Given the description of an element on the screen output the (x, y) to click on. 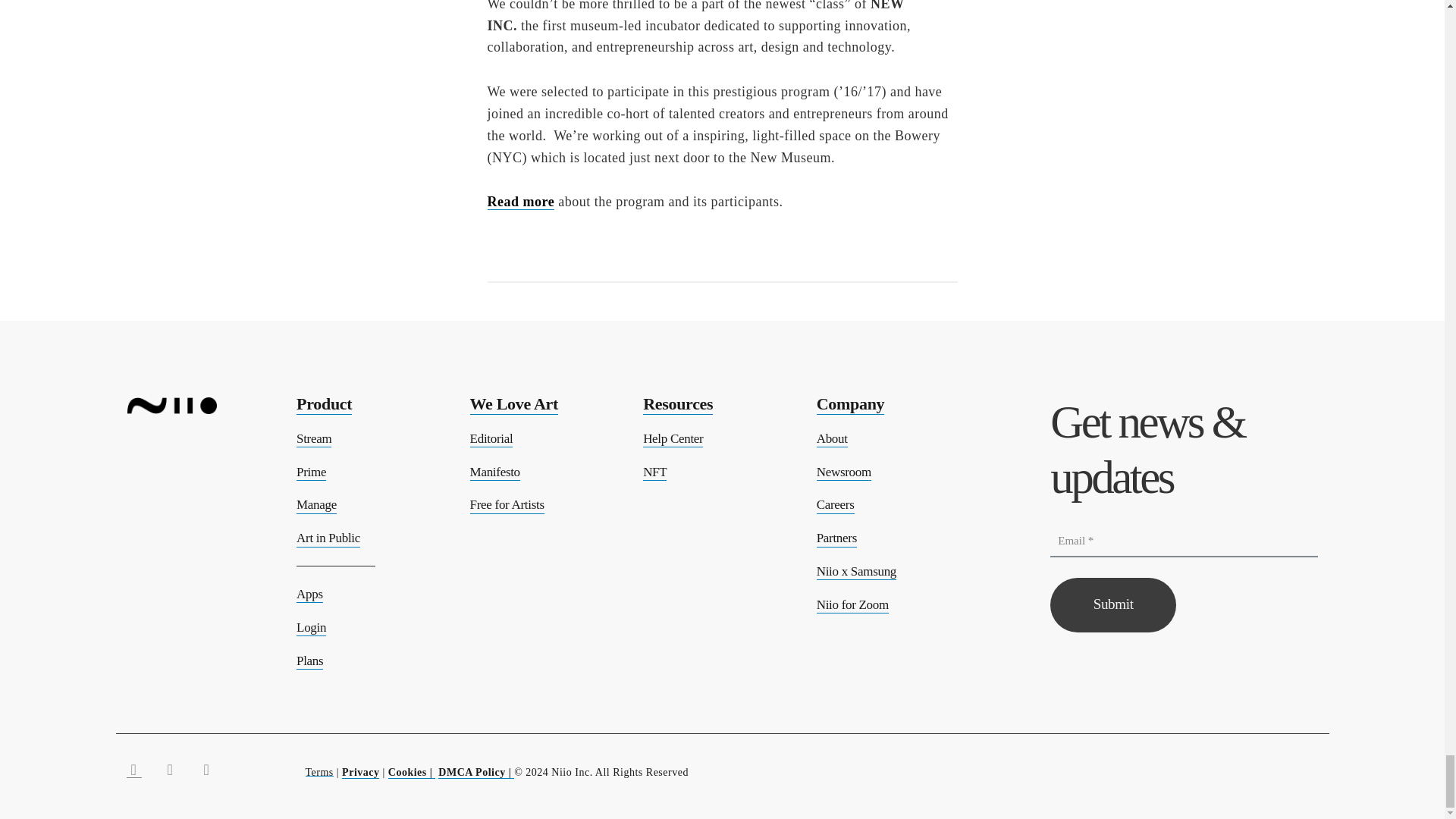
Product (324, 403)
Apps (310, 594)
Manage (316, 505)
Art in Public (328, 538)
Manifesto (494, 472)
Editorial (491, 439)
Prime (311, 472)
Plans (310, 661)
Stream (314, 439)
Login (311, 627)
